Given the description of an element on the screen output the (x, y) to click on. 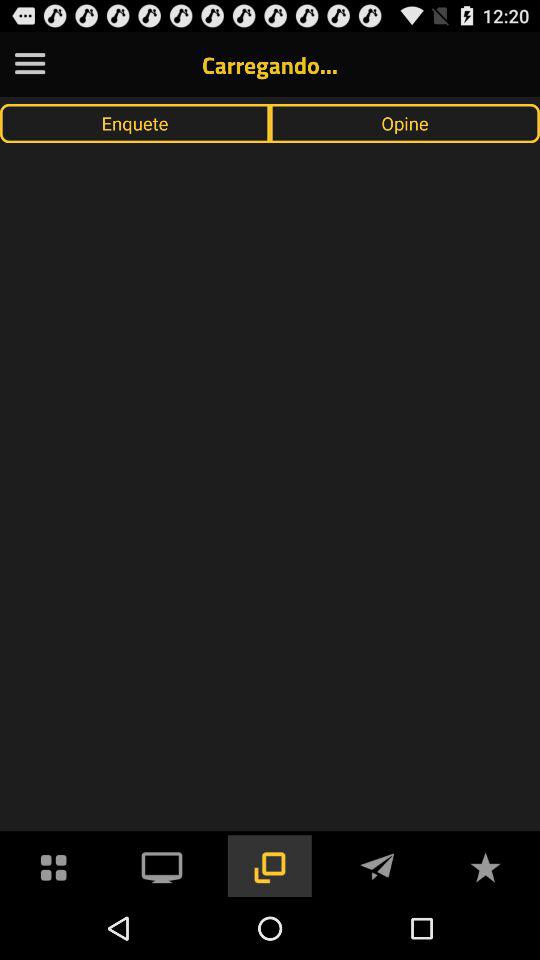
click the enquete button (135, 123)
